Given the description of an element on the screen output the (x, y) to click on. 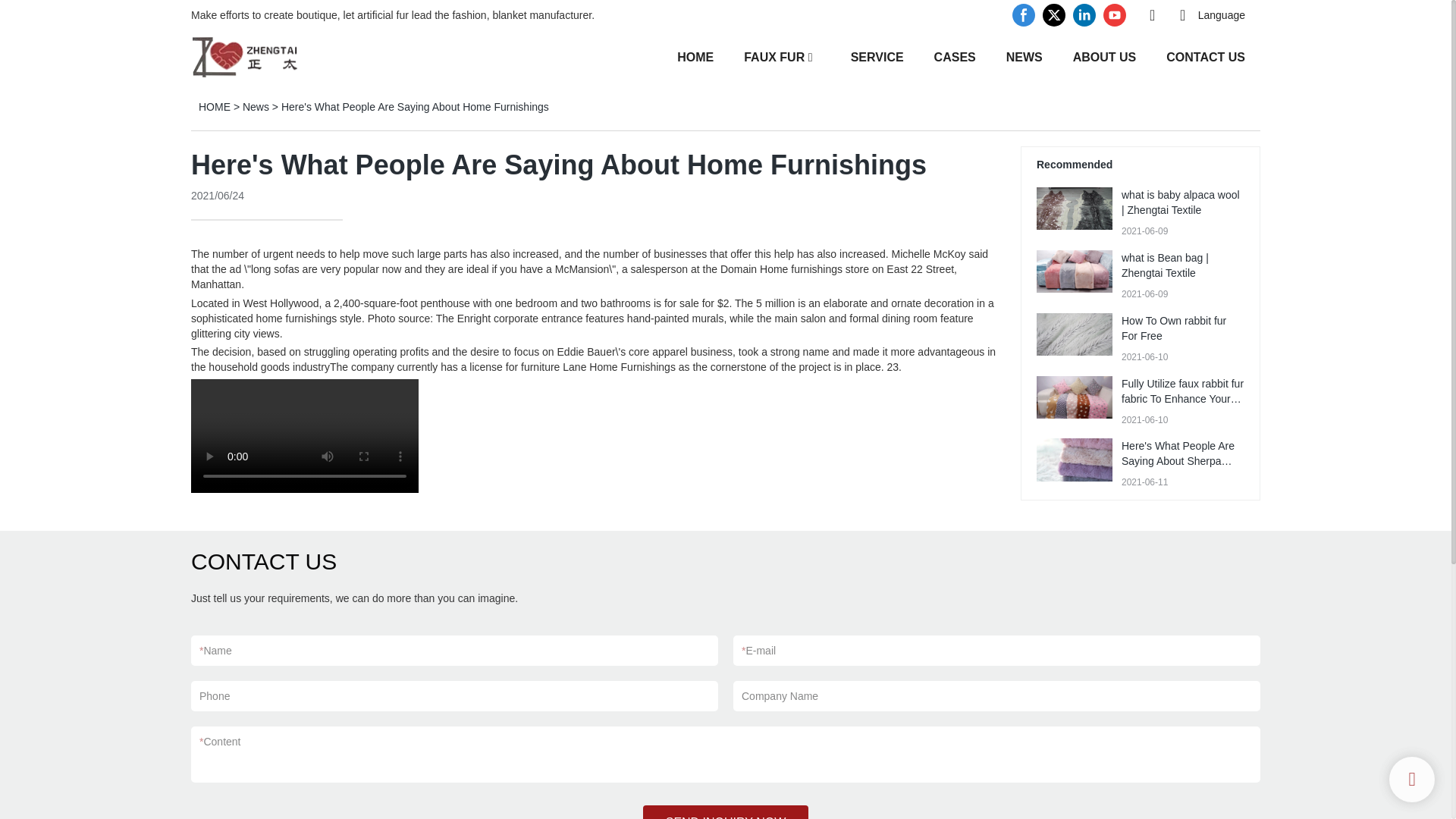
HOME (214, 106)
FAUX FUR (774, 56)
linkedin (1083, 15)
Here's What People Are Saying About Sherpa Throw Blanket (1177, 460)
twitter (1053, 15)
HOME (695, 56)
CASES (954, 56)
News (256, 106)
facebook (1024, 15)
NEWS (1024, 56)
CONTACT US (1205, 56)
SEND INQUIRY NOW (726, 812)
How To Own rabbit fur For Free (1173, 328)
SERVICE (877, 56)
